Given the description of an element on the screen output the (x, y) to click on. 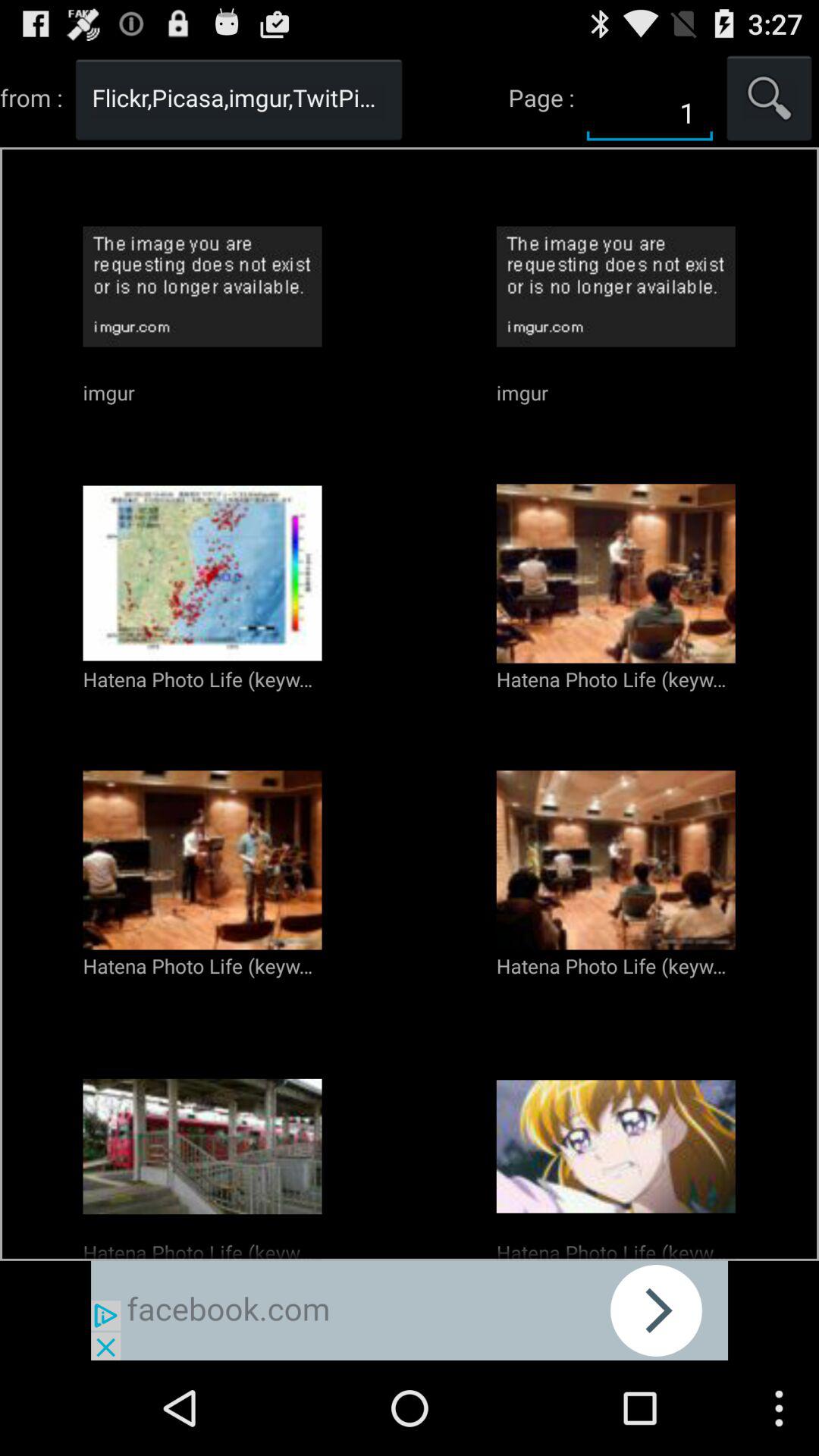
go to this site (409, 1310)
